Given the description of an element on the screen output the (x, y) to click on. 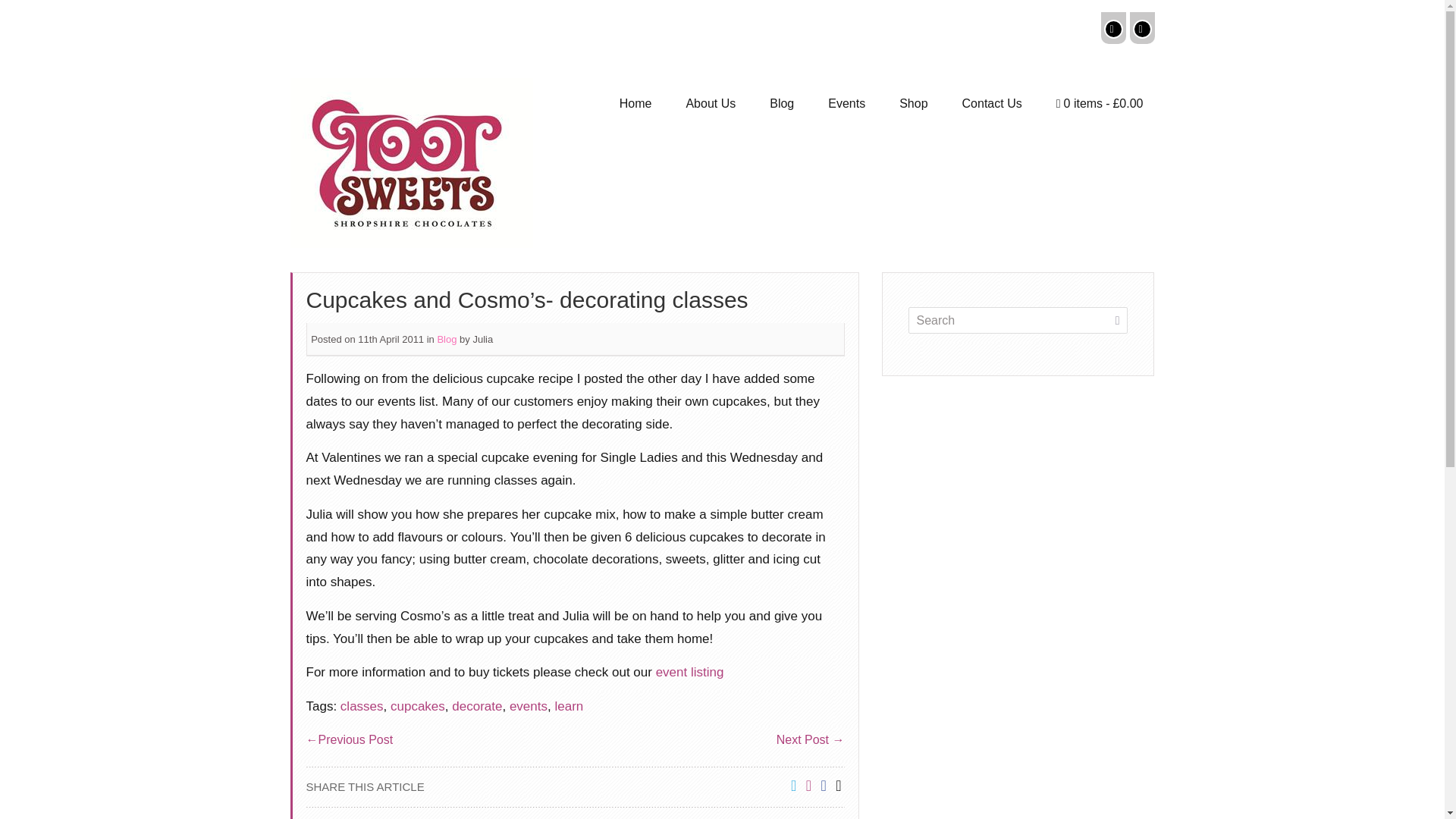
Contact Us (991, 103)
Blog (781, 103)
event listing (689, 672)
About Us (710, 103)
Search (1017, 316)
Events (846, 103)
events (528, 706)
Posts by Julia (482, 338)
cupcakes (417, 706)
Start shopping (1099, 103)
